Given the description of an element on the screen output the (x, y) to click on. 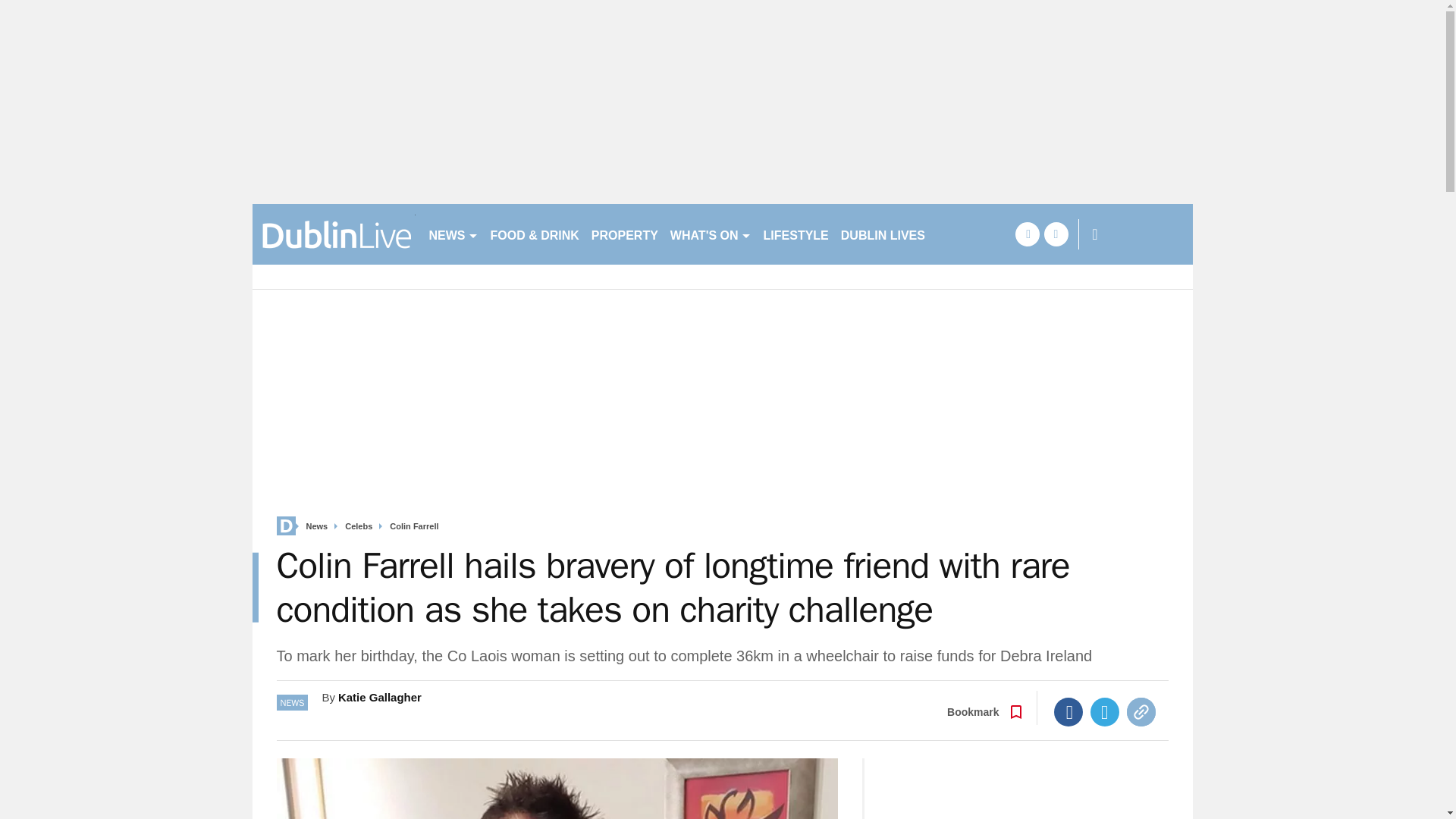
Twitter (1104, 711)
dublinlive (332, 233)
facebook (1026, 233)
SOCCER (962, 233)
twitter (1055, 233)
Facebook (1068, 711)
PROPERTY (624, 233)
LIFESTYLE (795, 233)
WHAT'S ON (710, 233)
NEWS (453, 233)
